Given the description of an element on the screen output the (x, y) to click on. 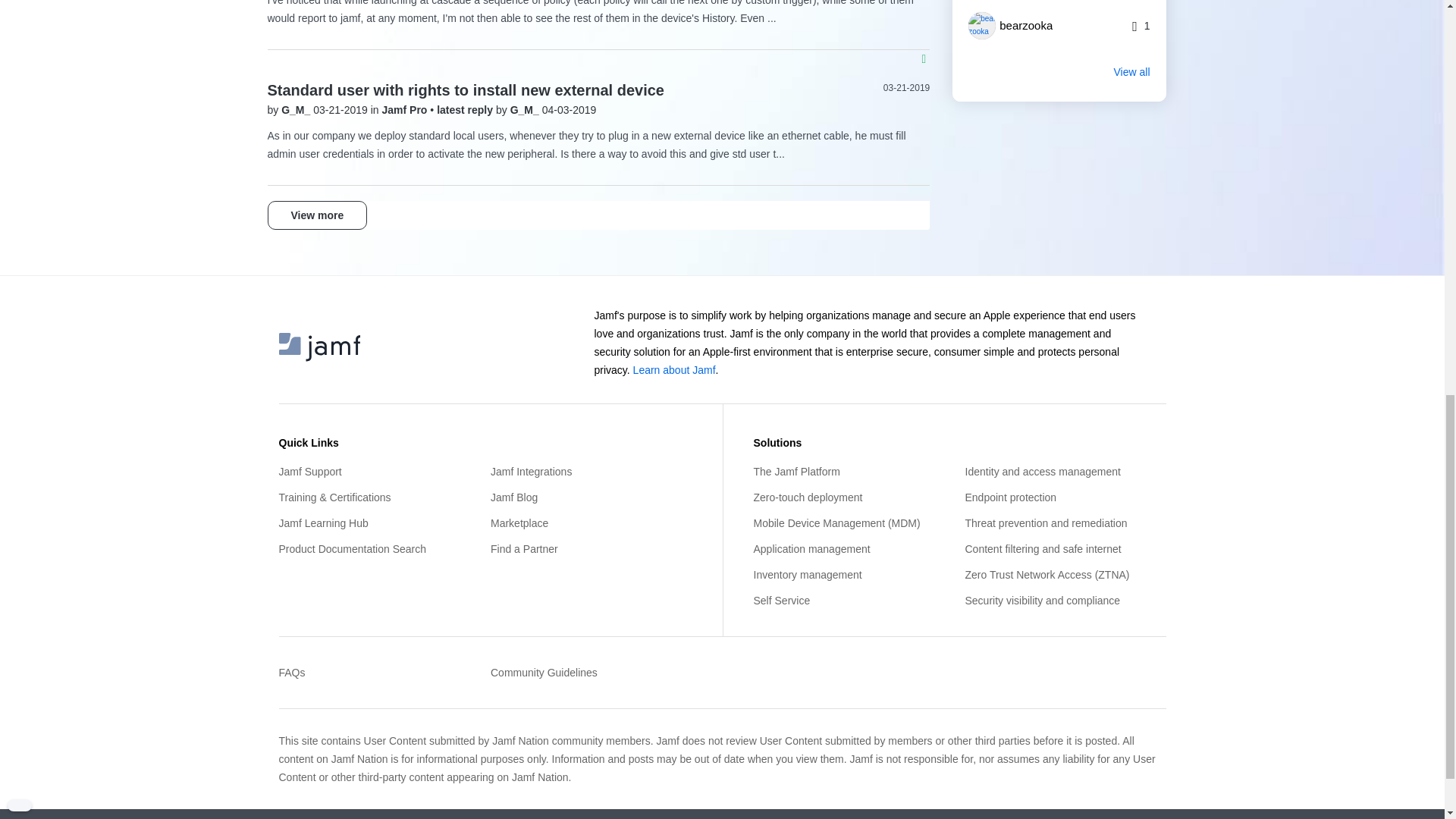
View profile (526, 110)
View profile (297, 110)
Jamf Pro (405, 110)
latest reply (466, 110)
03-21-2019 04:09 AM 03-21-2019 04:09 AM (906, 87)
View more (316, 215)
View post (466, 110)
Standard user with rights to install new external device (464, 89)
